Given the description of an element on the screen output the (x, y) to click on. 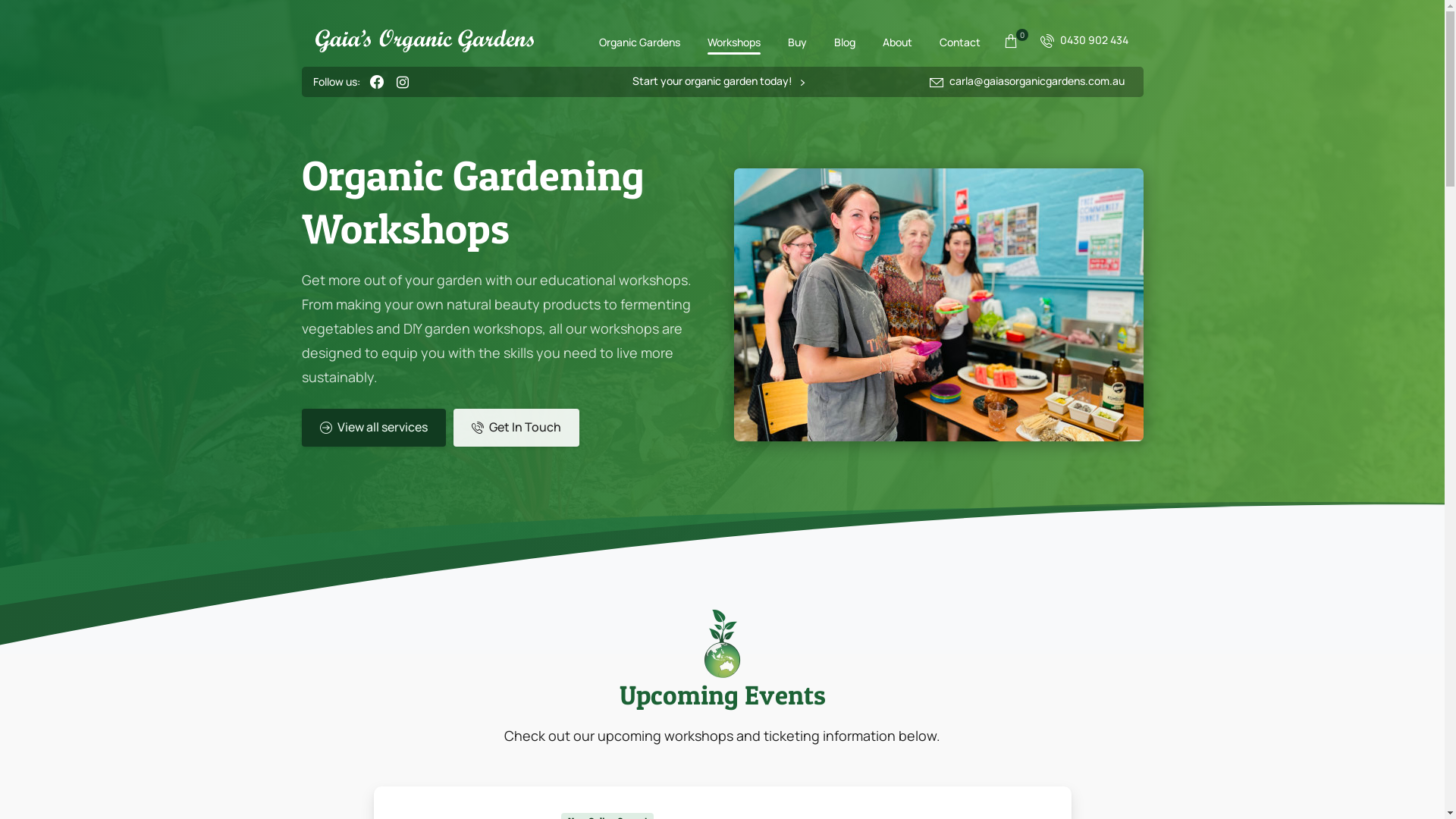
instagram Element type: hover (402, 81)
Buy Element type: text (796, 40)
pl2 Element type: hover (722, 643)
Contact Element type: text (958, 40)
Facebook Element type: hover (376, 81)
View all services Element type: text (373, 427)
Organic Gardens Element type: text (639, 40)
Workshops Element type: text (732, 40)
0430 902 434 Element type: text (1084, 40)
Start your organic garden today! Element type: text (718, 81)
Blog Element type: text (844, 40)
About Element type: text (897, 40)
0 Element type: text (1010, 40)
Get In Touch Element type: text (516, 427)
work Element type: hover (938, 304)
carla@gaiasorganicgardens.com.au Element type: text (1026, 81)
